Given the description of an element on the screen output the (x, y) to click on. 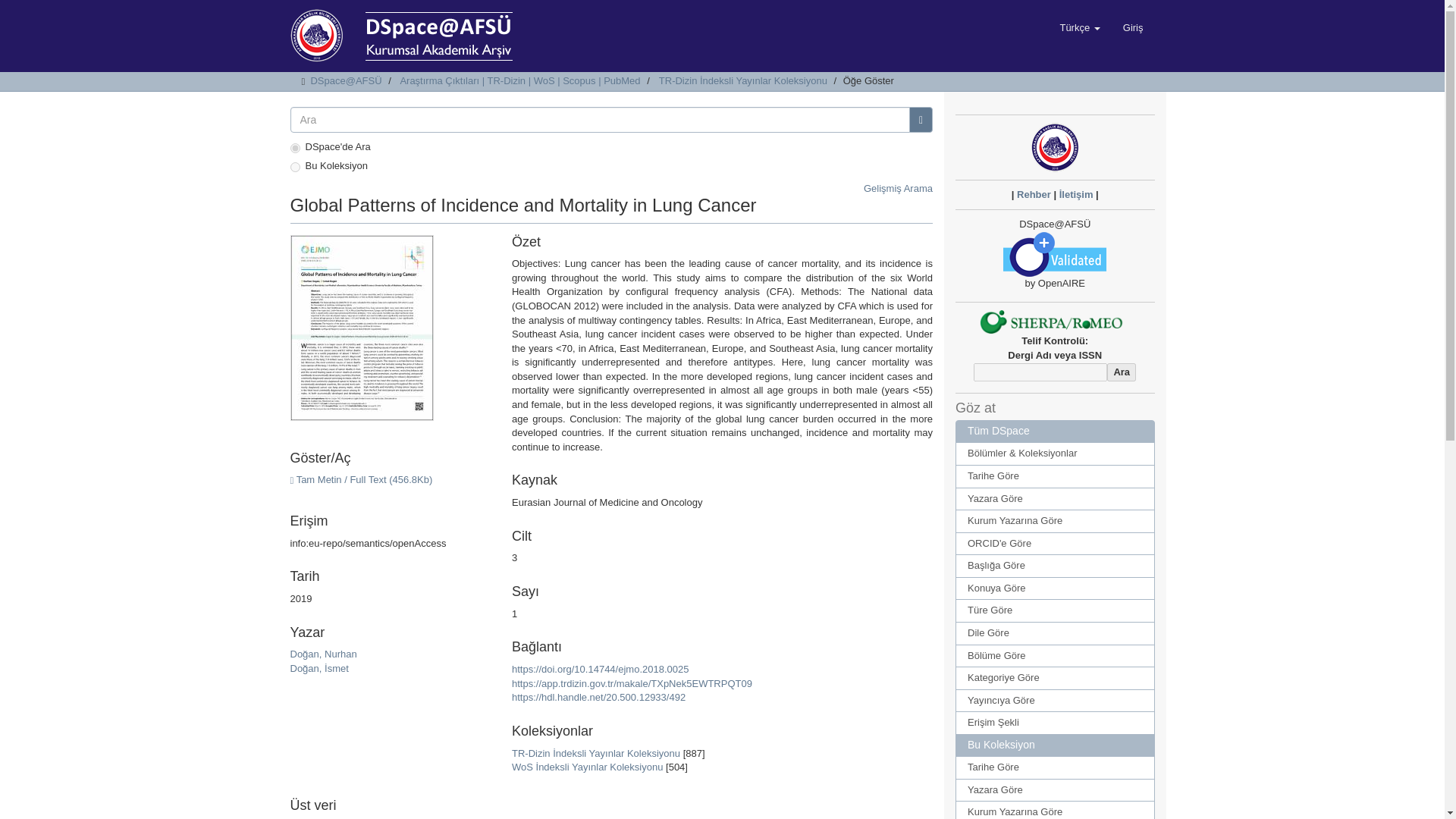
Rehber (1033, 194)
Ara (1120, 372)
Bul (920, 119)
